Given the description of an element on the screen output the (x, y) to click on. 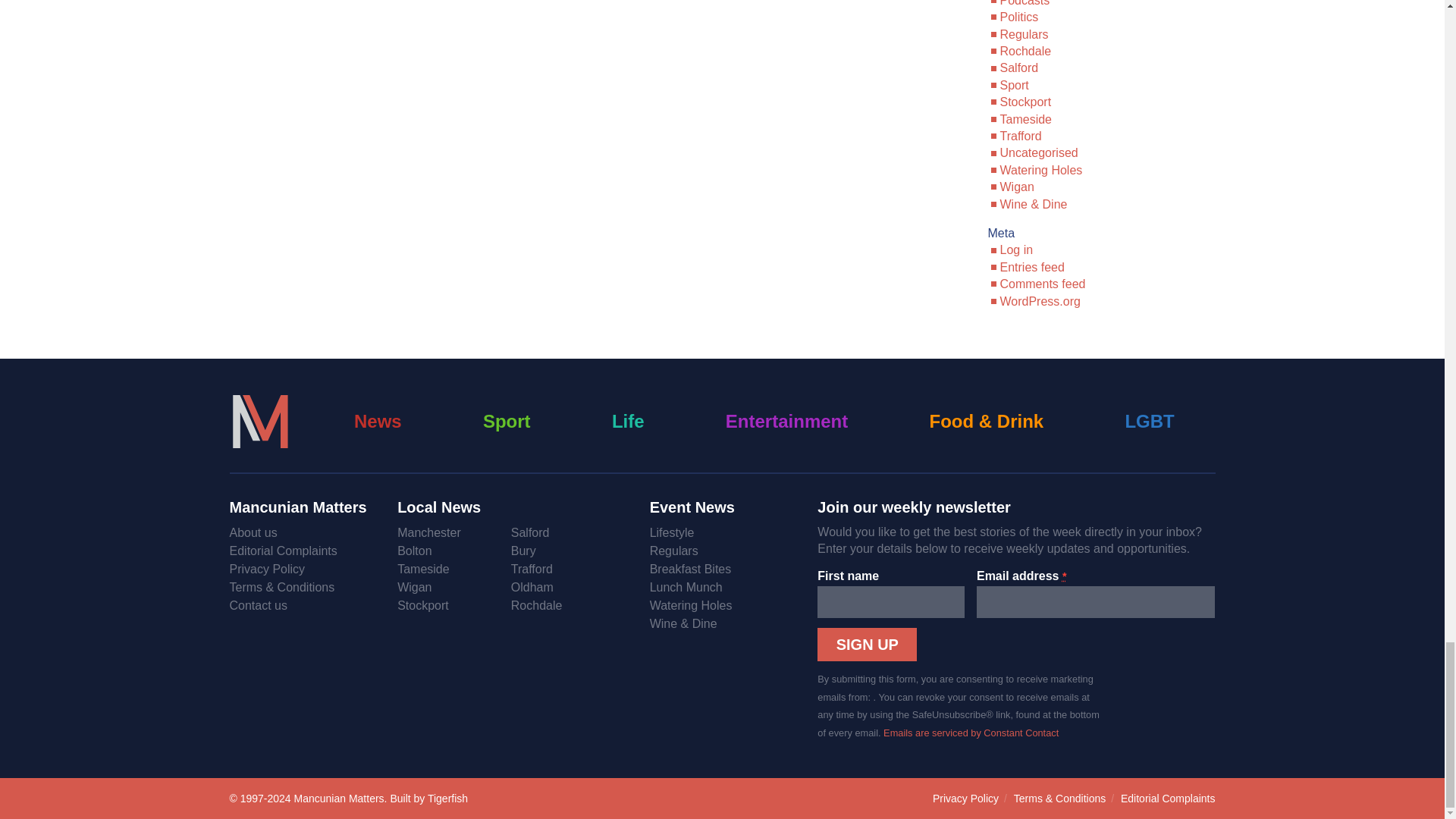
Sign up (866, 644)
